Given the description of an element on the screen output the (x, y) to click on. 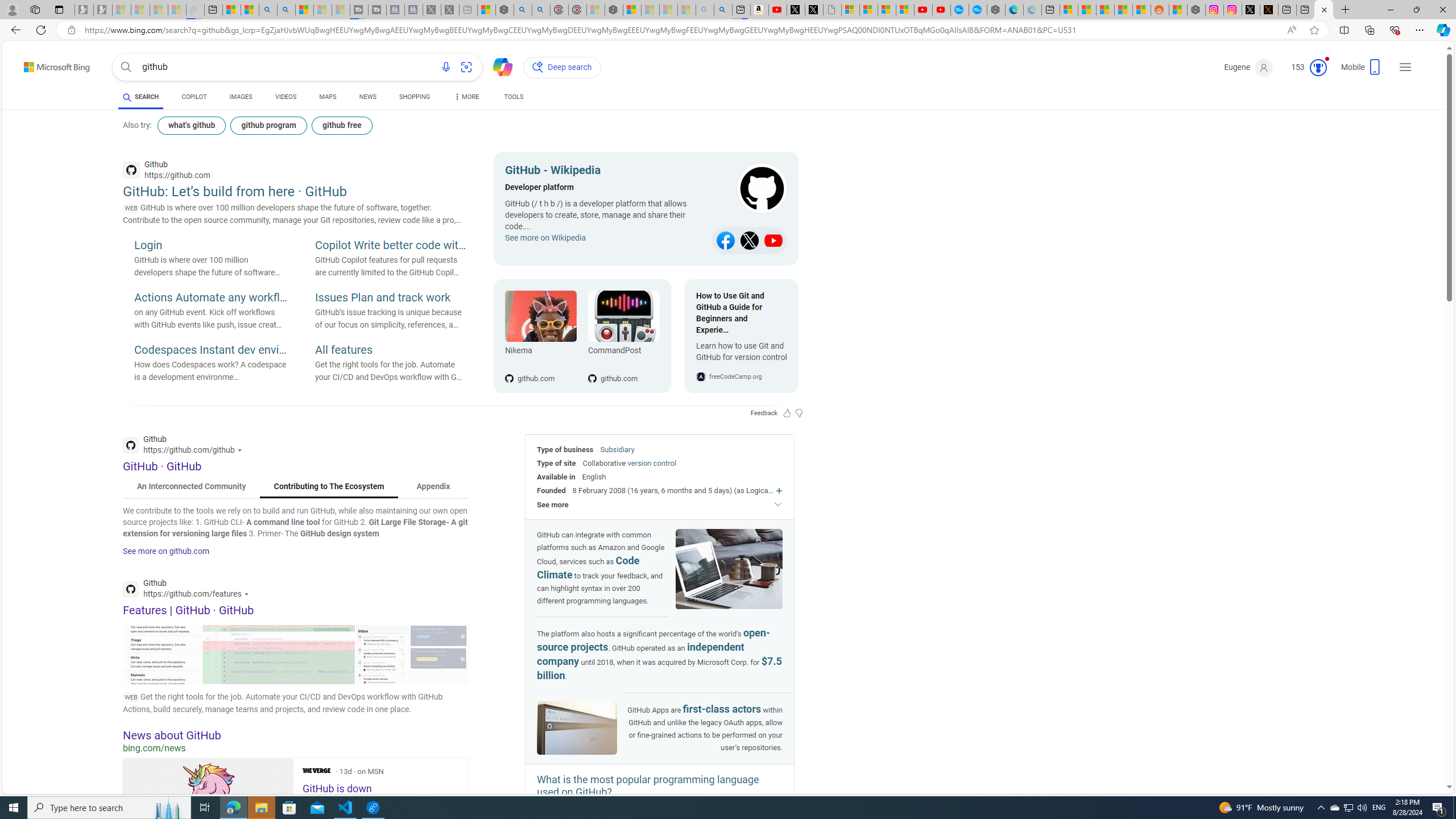
Mobile (1361, 70)
Image of GitHub (577, 728)
Untitled (831, 9)
Actions Automate any workflow (210, 298)
github.com (623, 359)
Github (188, 589)
VIDEOS (285, 98)
SHOPPING (414, 98)
Nikema (540, 352)
Microsoft Rewards 153 (1304, 67)
